Given the description of an element on the screen output the (x, y) to click on. 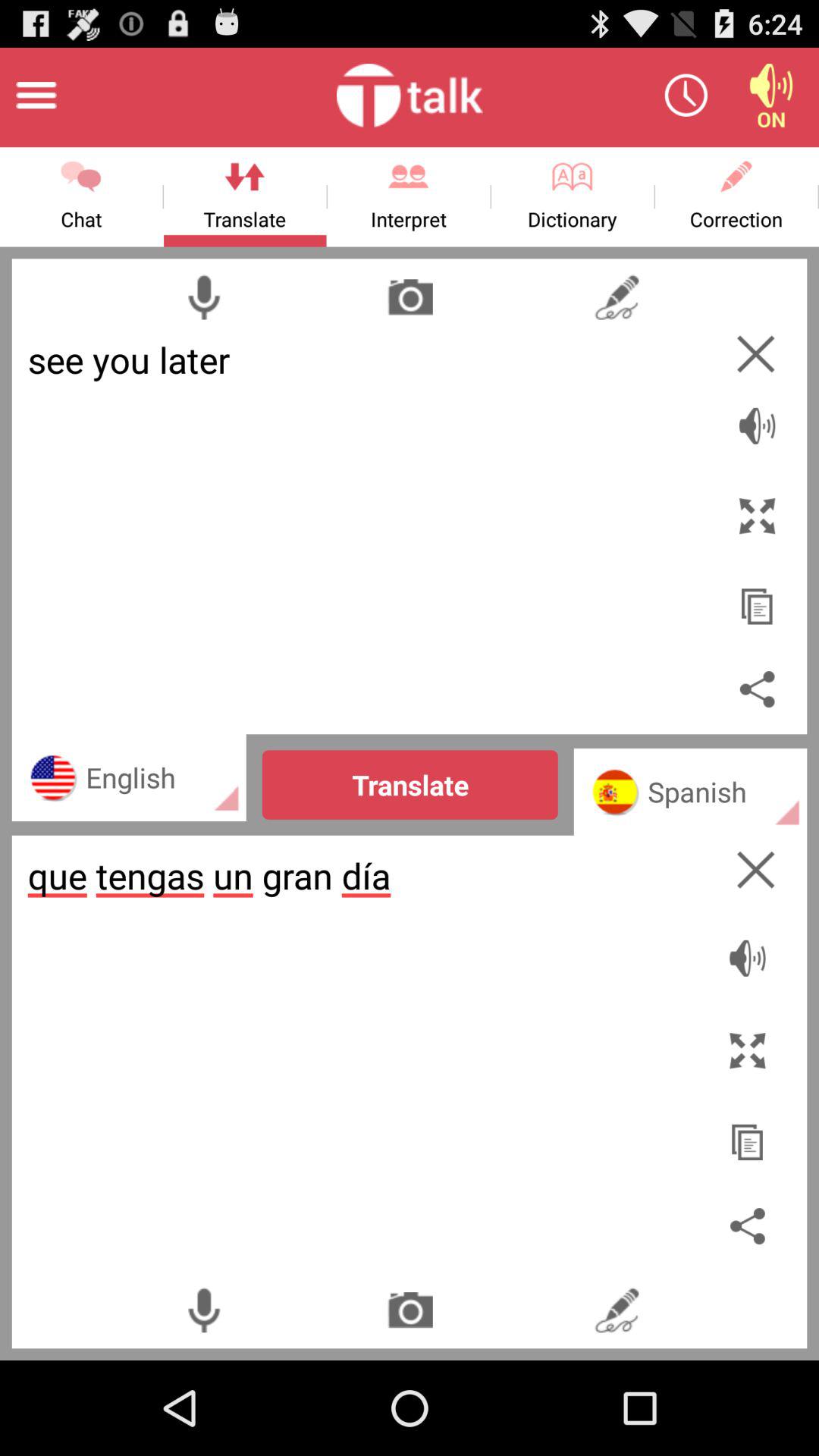
open scribble area (616, 296)
